Given the description of an element on the screen output the (x, y) to click on. 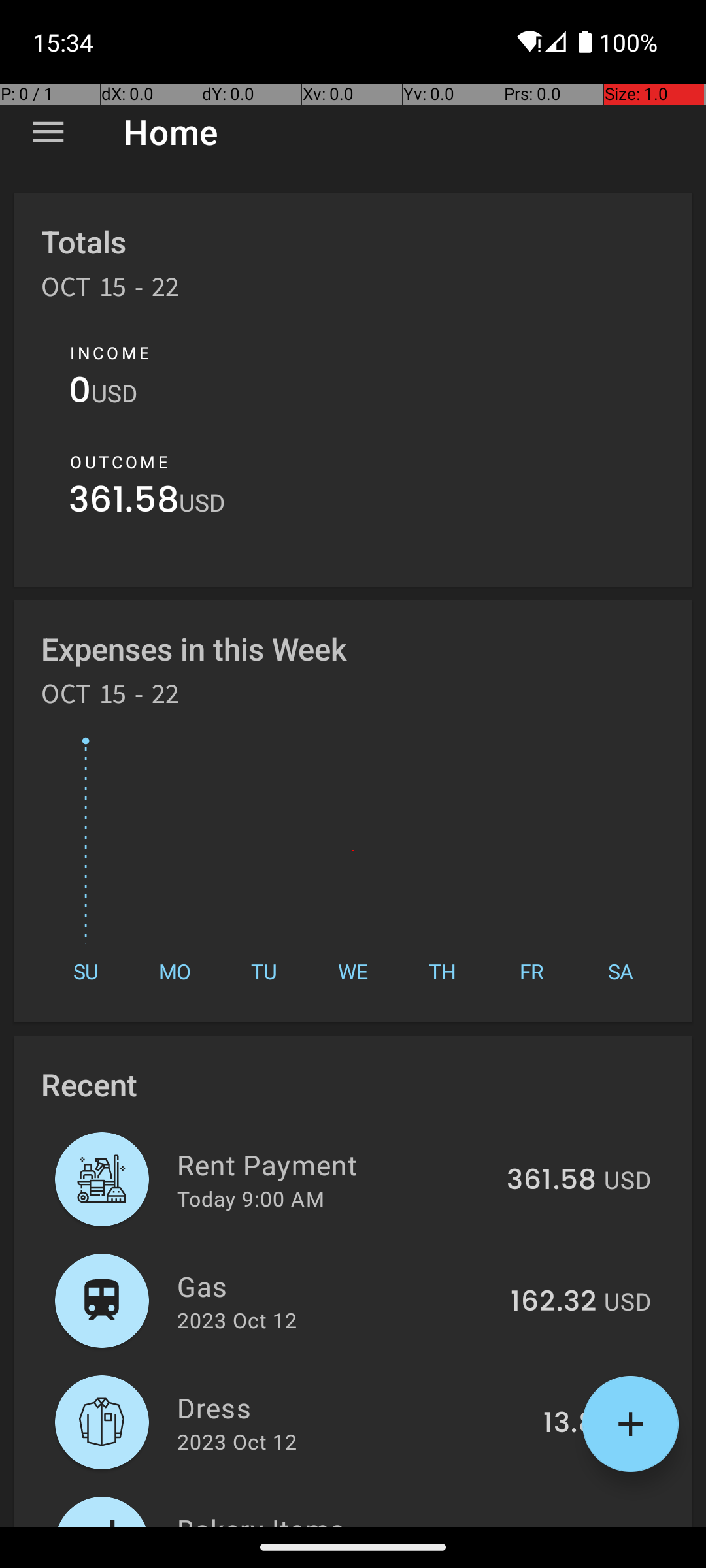
361.58 Element type: android.widget.TextView (123, 502)
Rent Payment Element type: android.widget.TextView (334, 1164)
Today 9:00 AM Element type: android.widget.TextView (250, 1198)
Gas Element type: android.widget.TextView (336, 1285)
162.32 Element type: android.widget.TextView (552, 1301)
Dress Element type: android.widget.TextView (352, 1407)
13.8 Element type: android.widget.TextView (569, 1423)
Bakery Items Element type: android.widget.TextView (330, 1518)
244.86 Element type: android.widget.TextView (547, 1524)
